Given the description of an element on the screen output the (x, y) to click on. 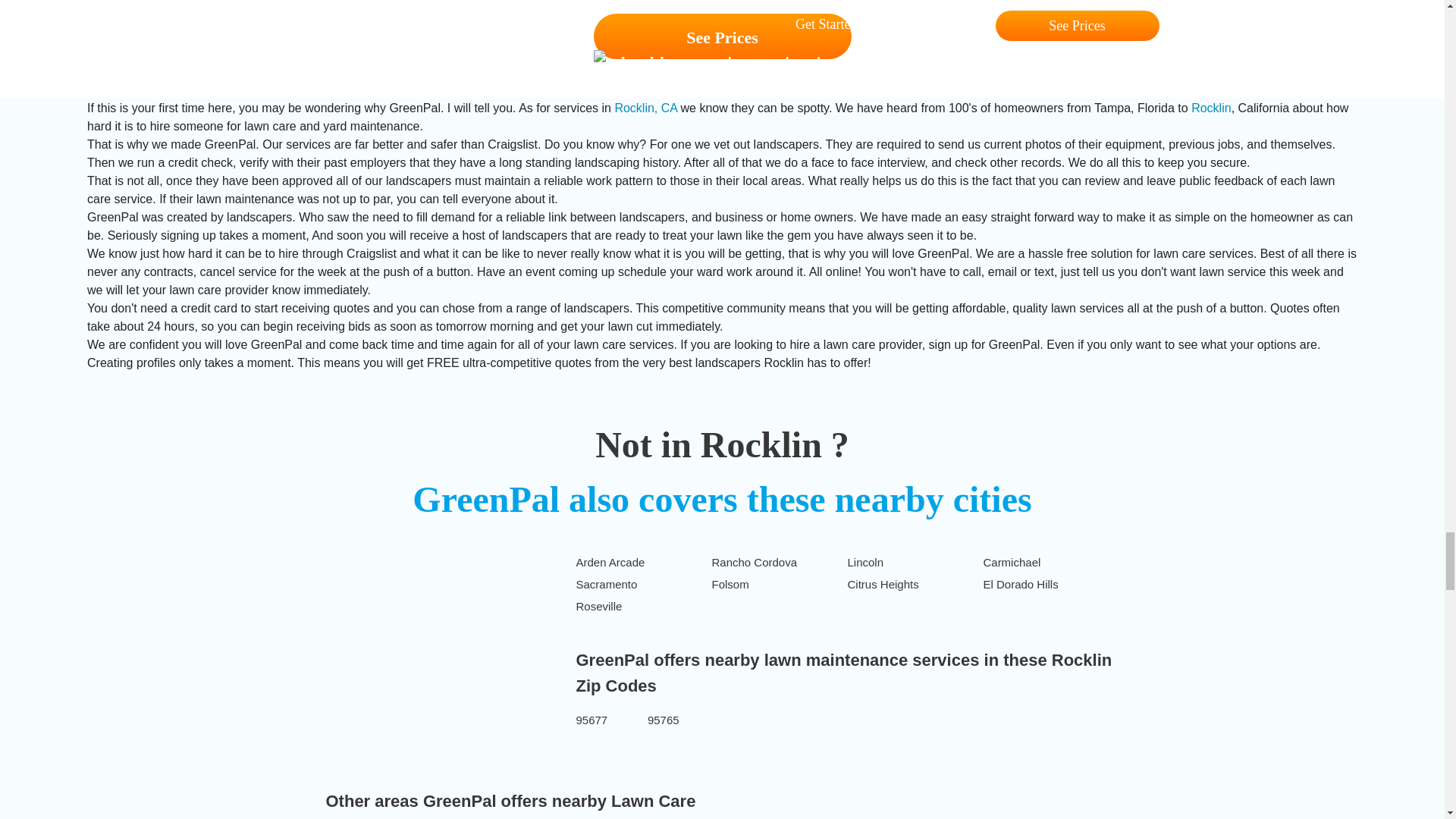
See Prices (721, 35)
Rocklin, CA (645, 107)
Rocklin (1210, 107)
